Given the description of an element on the screen output the (x, y) to click on. 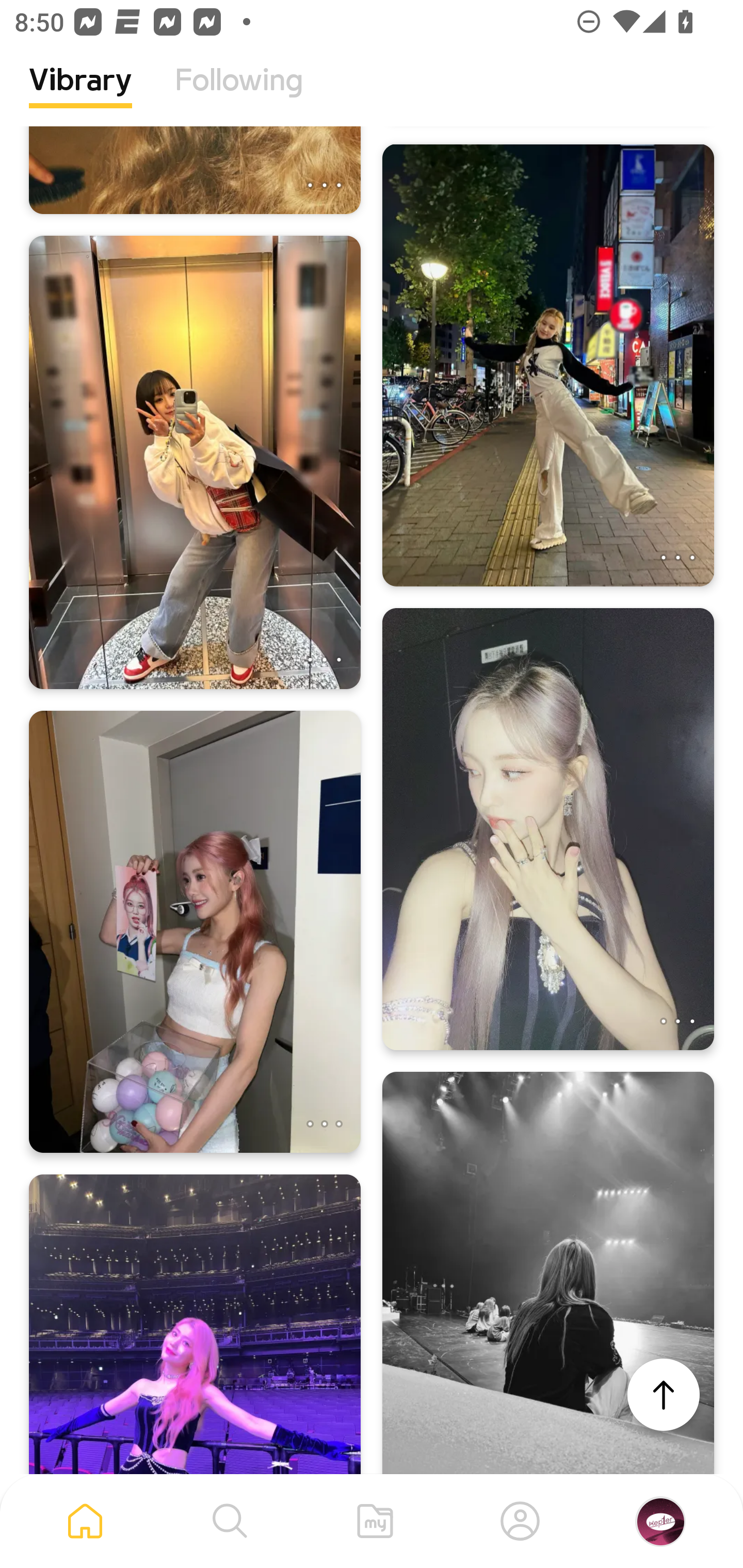
Vibrary (80, 95)
Following (239, 95)
